Given the description of an element on the screen output the (x, y) to click on. 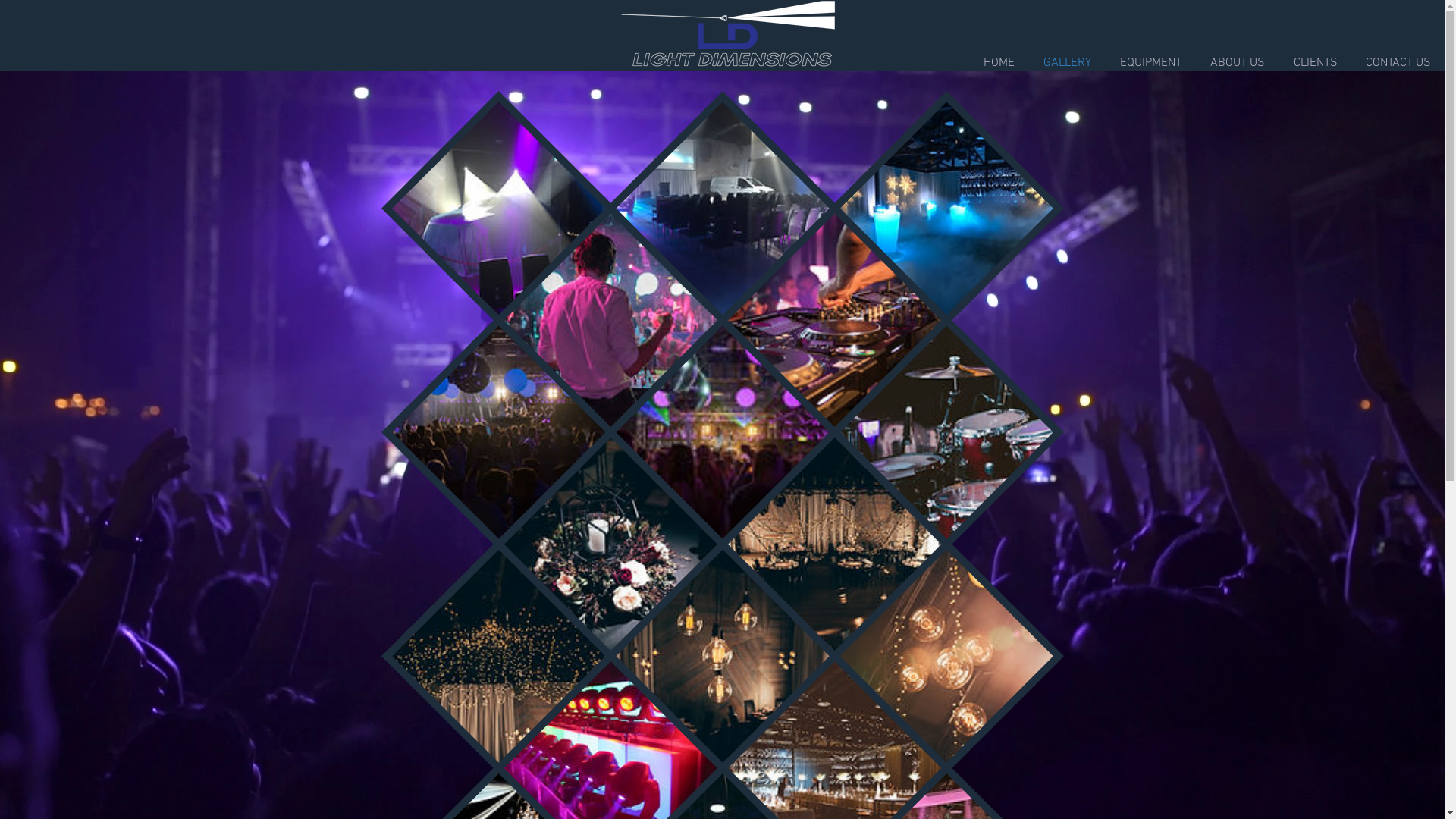
EQUIPMENT Element type: text (1150, 63)
ABOUT US Element type: text (1237, 63)
CONTACT US Element type: text (1397, 63)
CLIENTS Element type: text (1315, 63)
HOME Element type: text (999, 63)
GALLERY Element type: text (1067, 63)
